Given the description of an element on the screen output the (x, y) to click on. 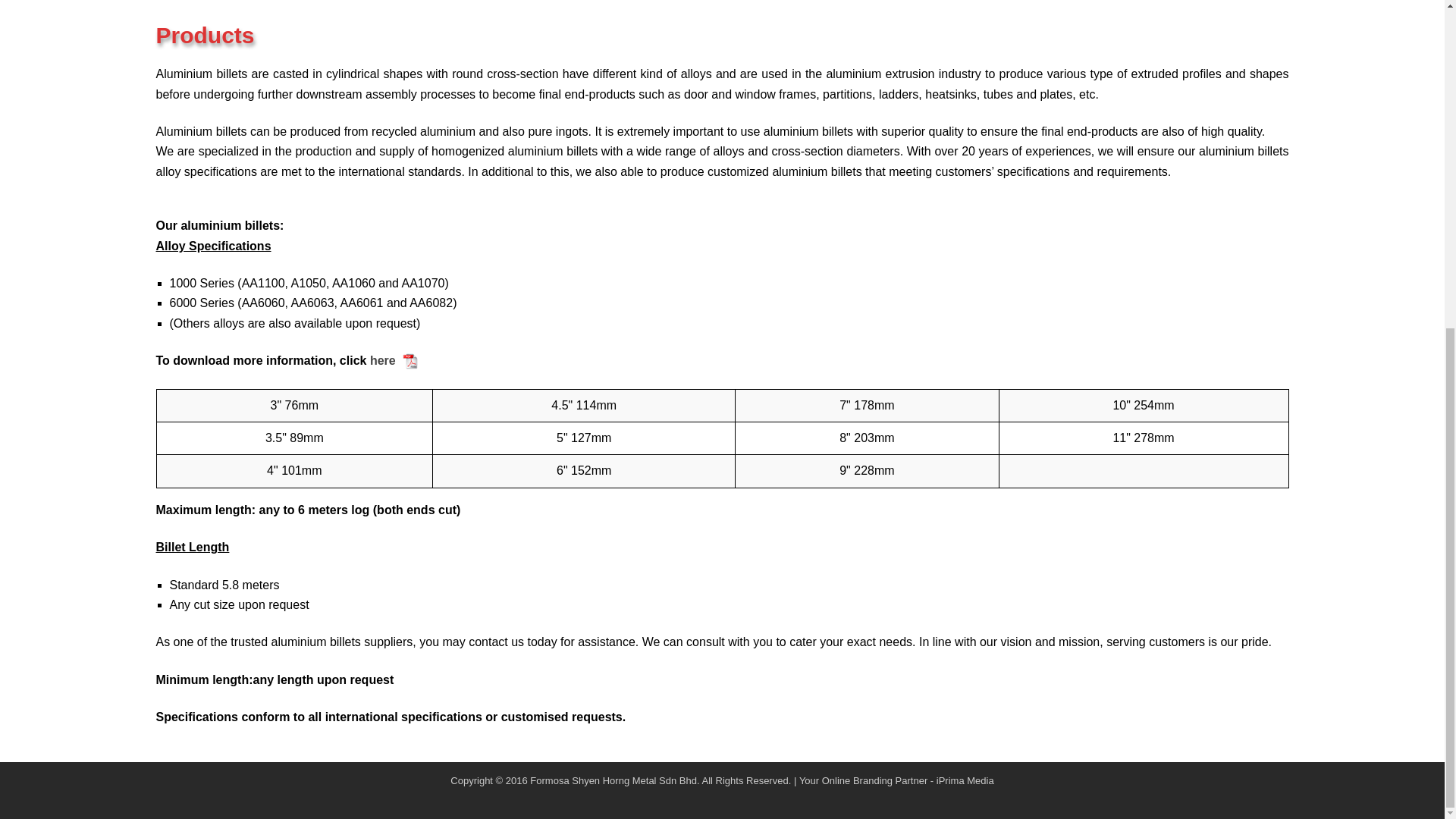
Formosa Shyen Horng Metal Sdn Bhd (613, 780)
here (382, 359)
Your Online Branding Partner - iPrima Media (896, 780)
